Given the description of an element on the screen output the (x, y) to click on. 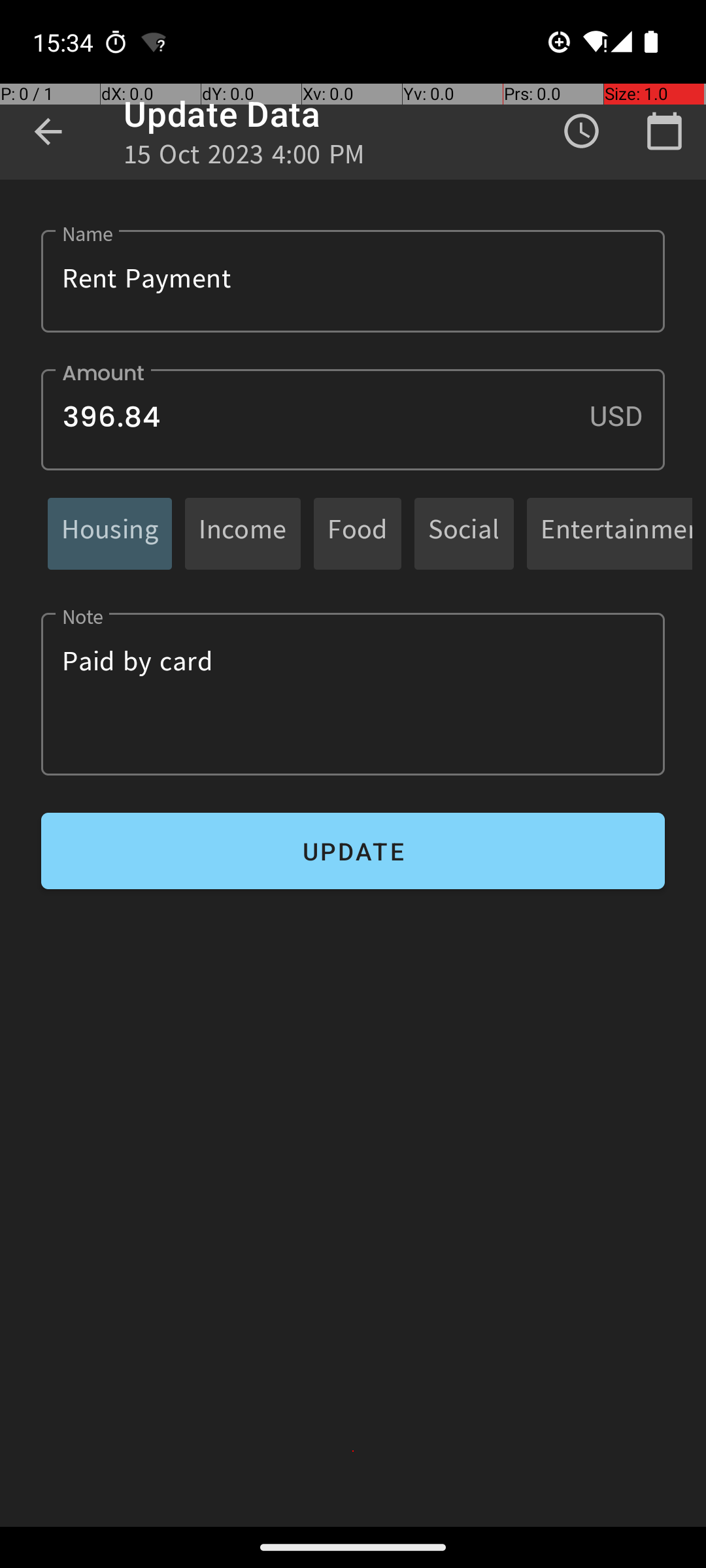
15 Oct 2023 4:00 PM Element type: android.widget.TextView (244, 157)
Rent Payment Element type: android.widget.EditText (352, 280)
396.84 Element type: android.widget.EditText (352, 419)
